Given the description of an element on the screen output the (x, y) to click on. 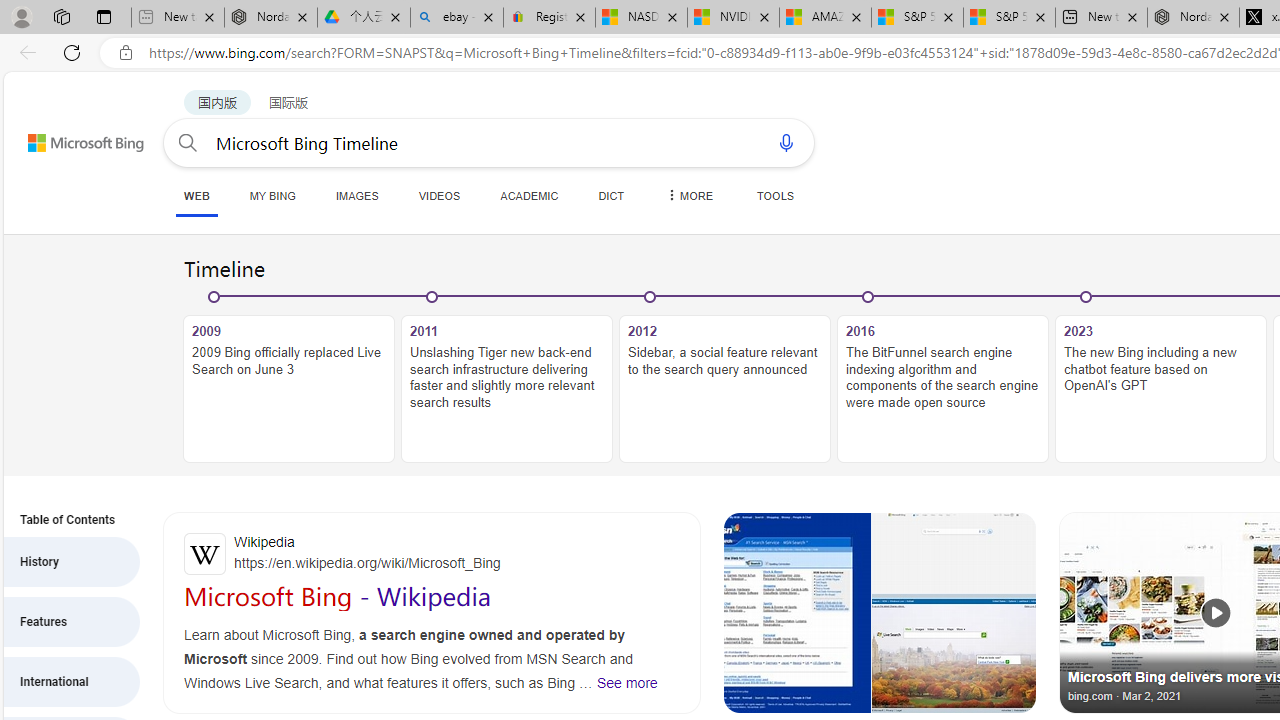
Dropdown Menu (688, 195)
See more GeneratedCaptionsTabForHeroSec (626, 682)
MY BING (272, 195)
DICT (611, 195)
Microsoft Bing - Wikipedia (337, 596)
TOOLS (775, 195)
Back to Bing search (73, 138)
